Given the description of an element on the screen output the (x, y) to click on. 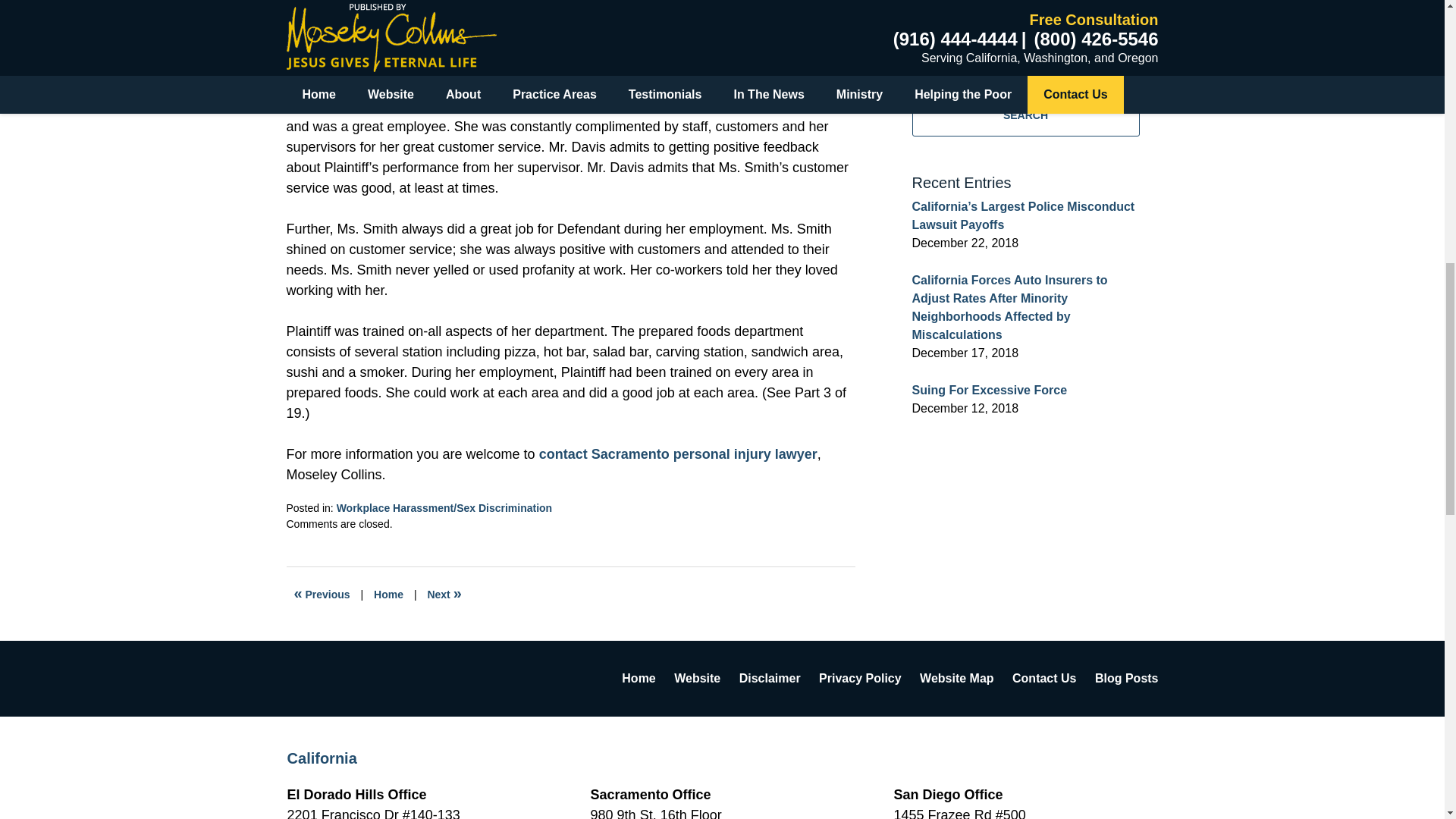
decision to fire Ms. Smith (500, 23)
Home (388, 594)
contact Sacramento personal injury lawyer (677, 453)
